Given the description of an element on the screen output the (x, y) to click on. 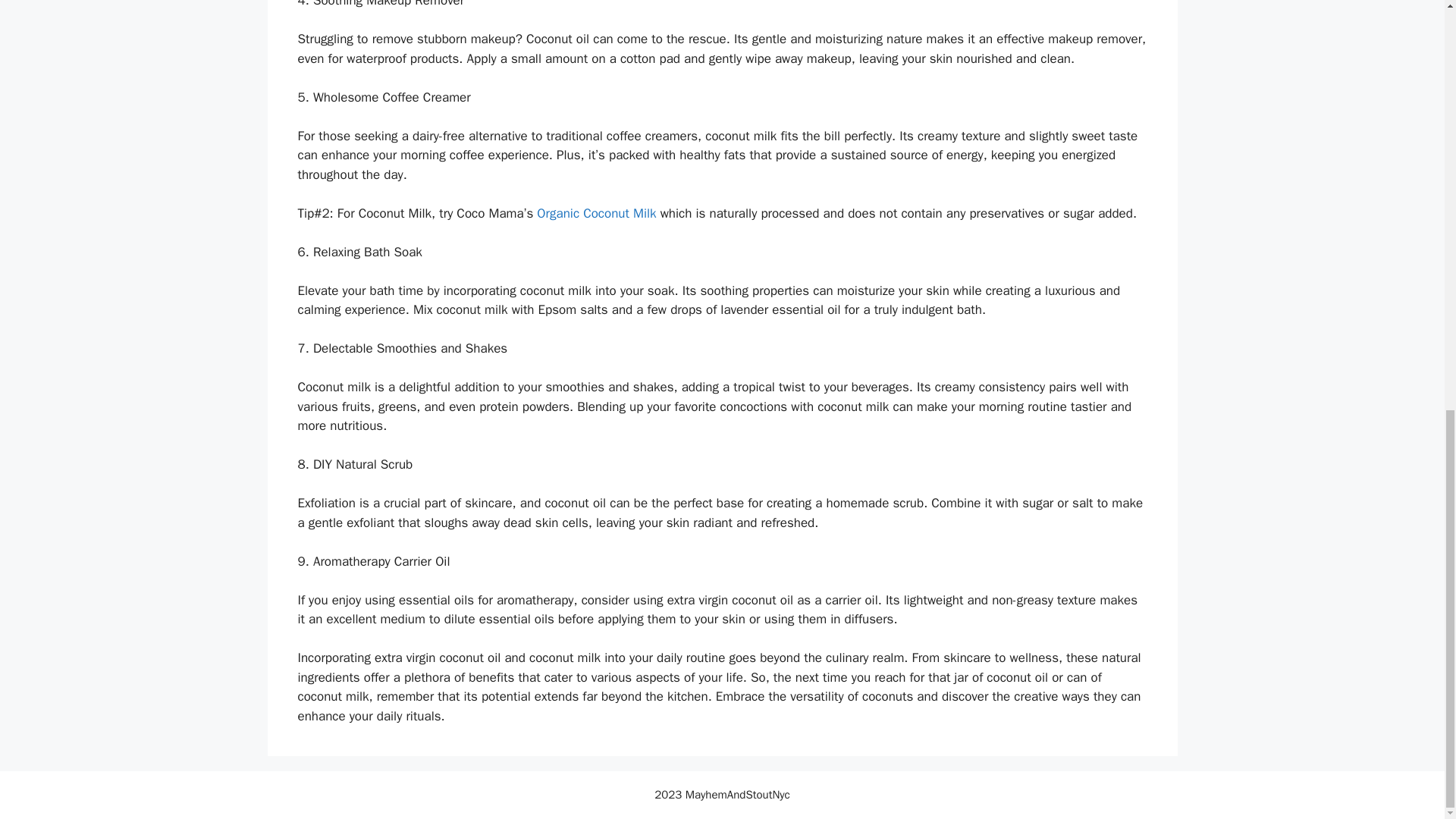
Organic Coconut Milk (596, 213)
